Given the description of an element on the screen output the (x, y) to click on. 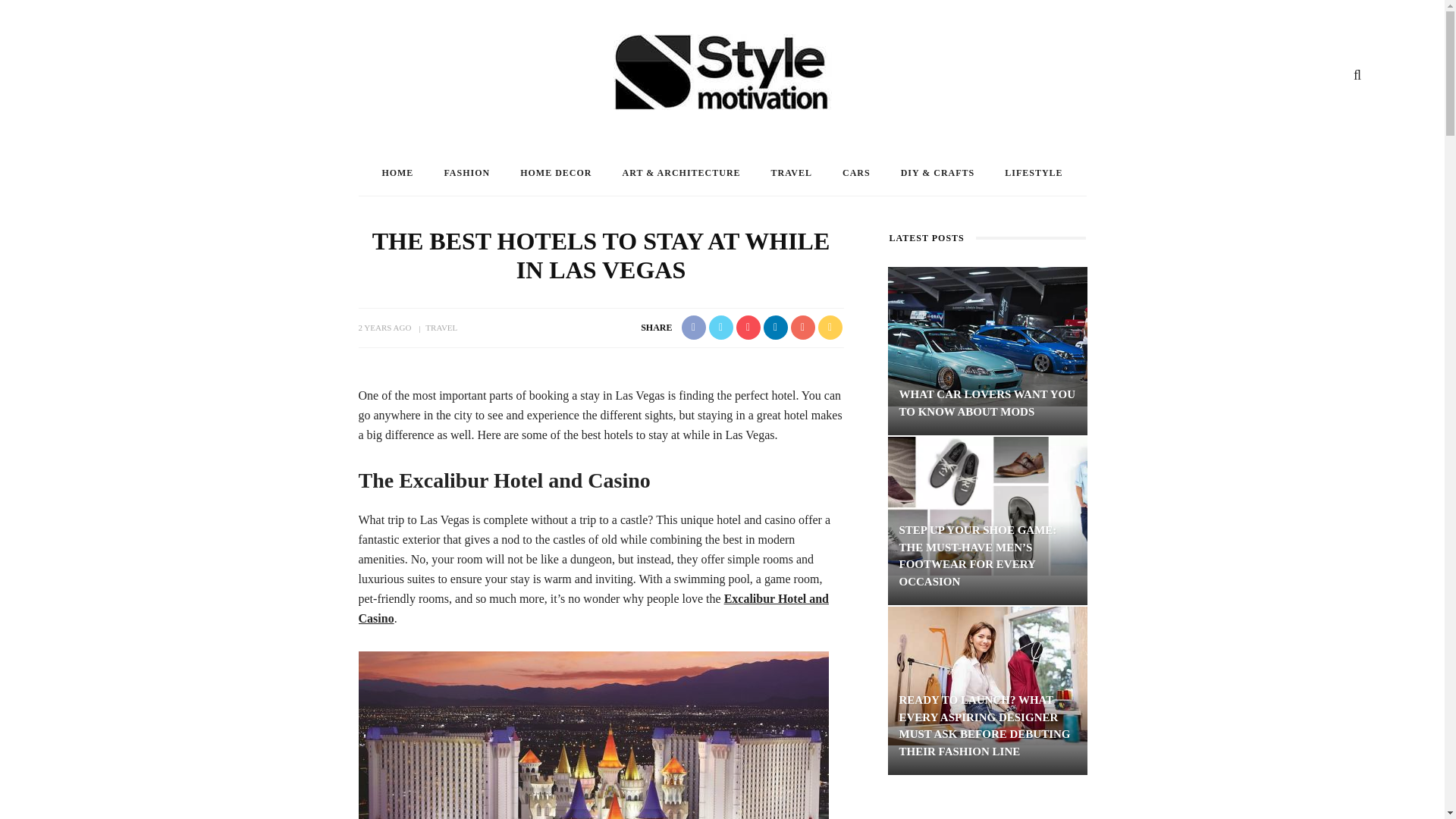
The Best Hotels to Stay at While in Las Vegas (593, 735)
LIFESTYLE (1033, 172)
HOME (397, 172)
HOME DECOR (556, 172)
TRAVEL (441, 327)
FASHION (466, 172)
Excalibur Hotel and Casino (593, 608)
CARS (856, 172)
TRAVEL (791, 172)
